Given the description of an element on the screen output the (x, y) to click on. 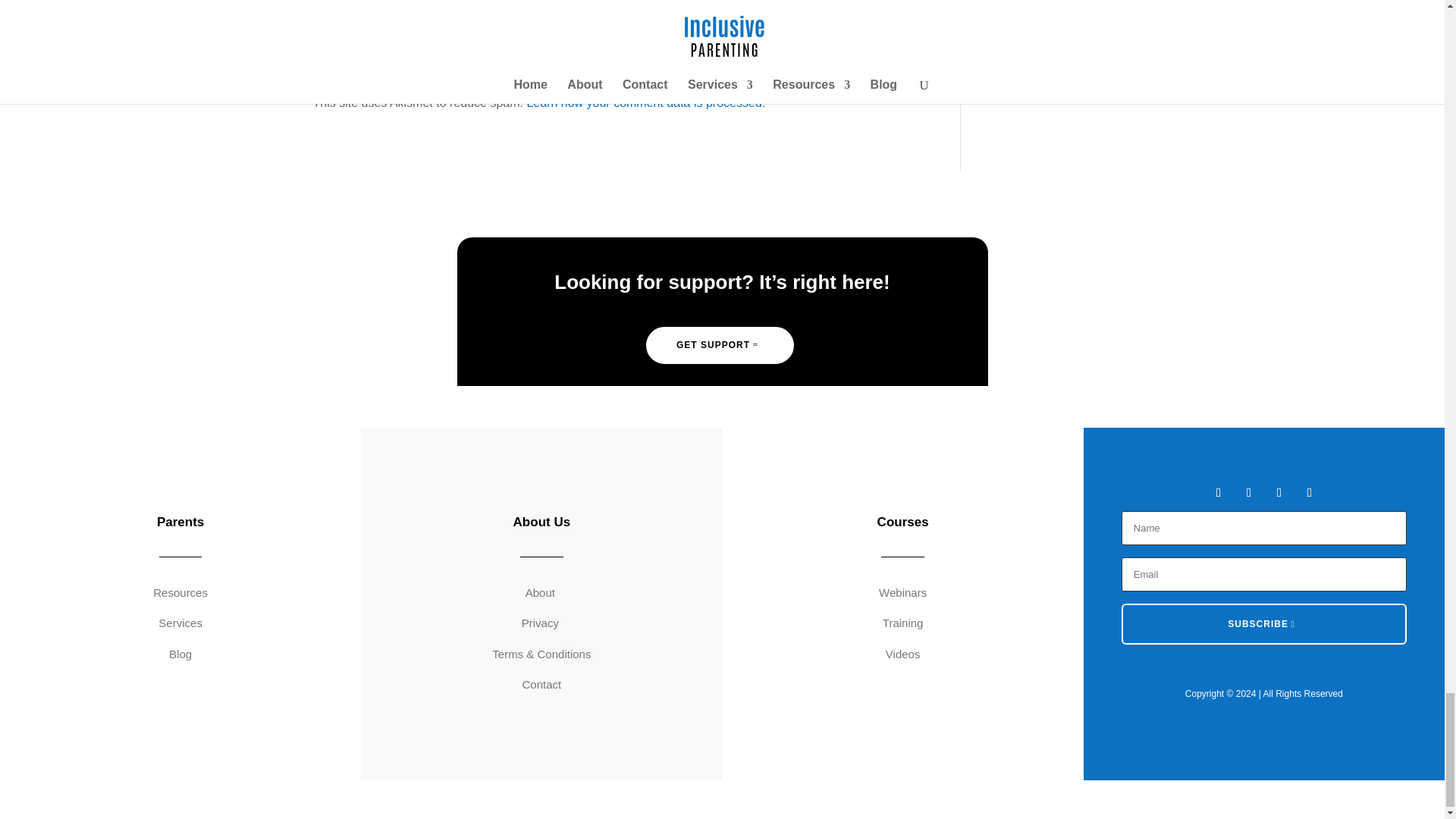
Follow on Instagram (1278, 492)
Follow on Pinterest (1309, 492)
Submit Comment (840, 22)
Follow on Facebook (1218, 492)
Follow on Twitter (1248, 492)
